Given the description of an element on the screen output the (x, y) to click on. 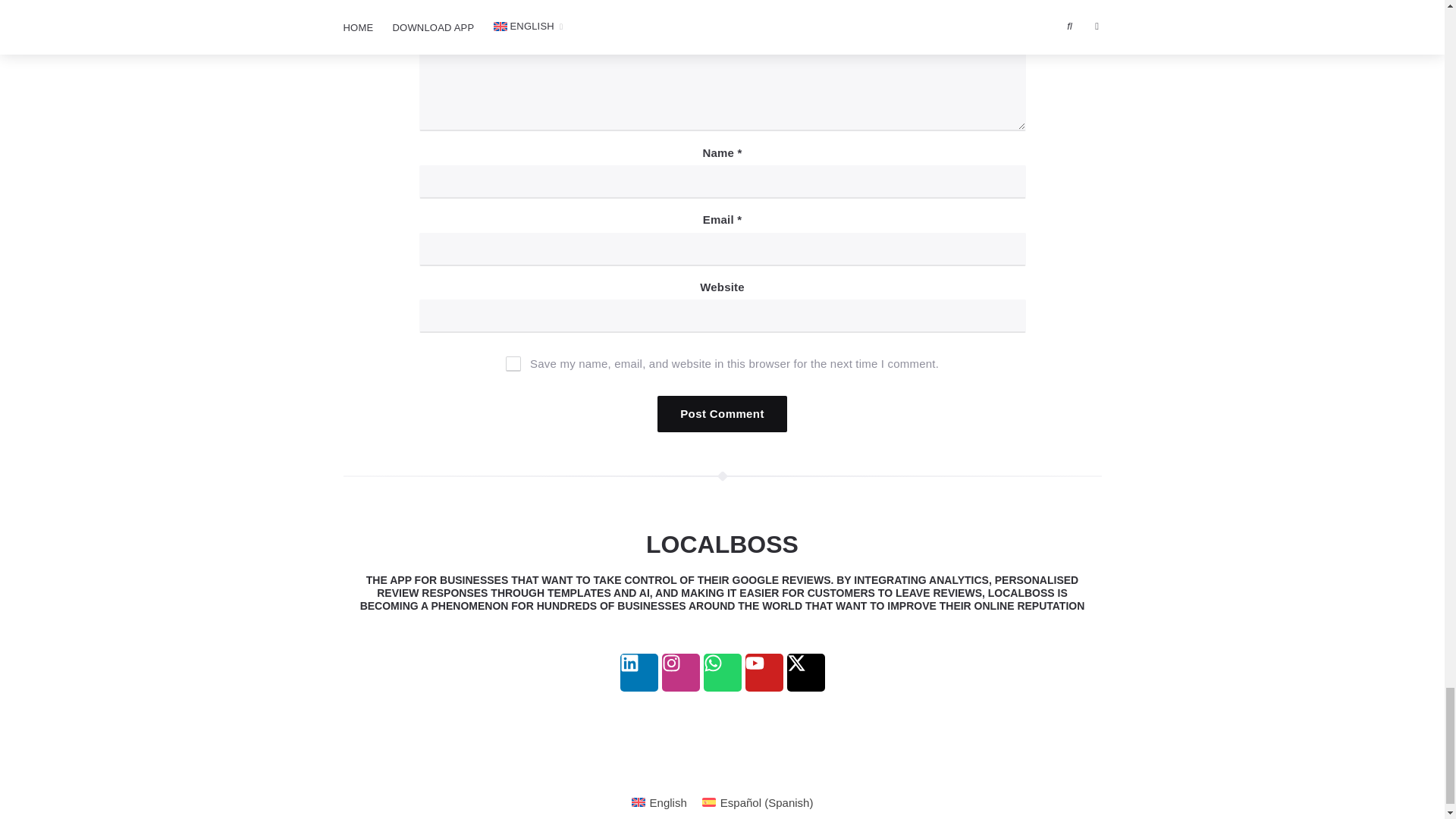
yes (513, 363)
English (659, 802)
Post comment (722, 413)
Post comment (722, 413)
